Given the description of an element on the screen output the (x, y) to click on. 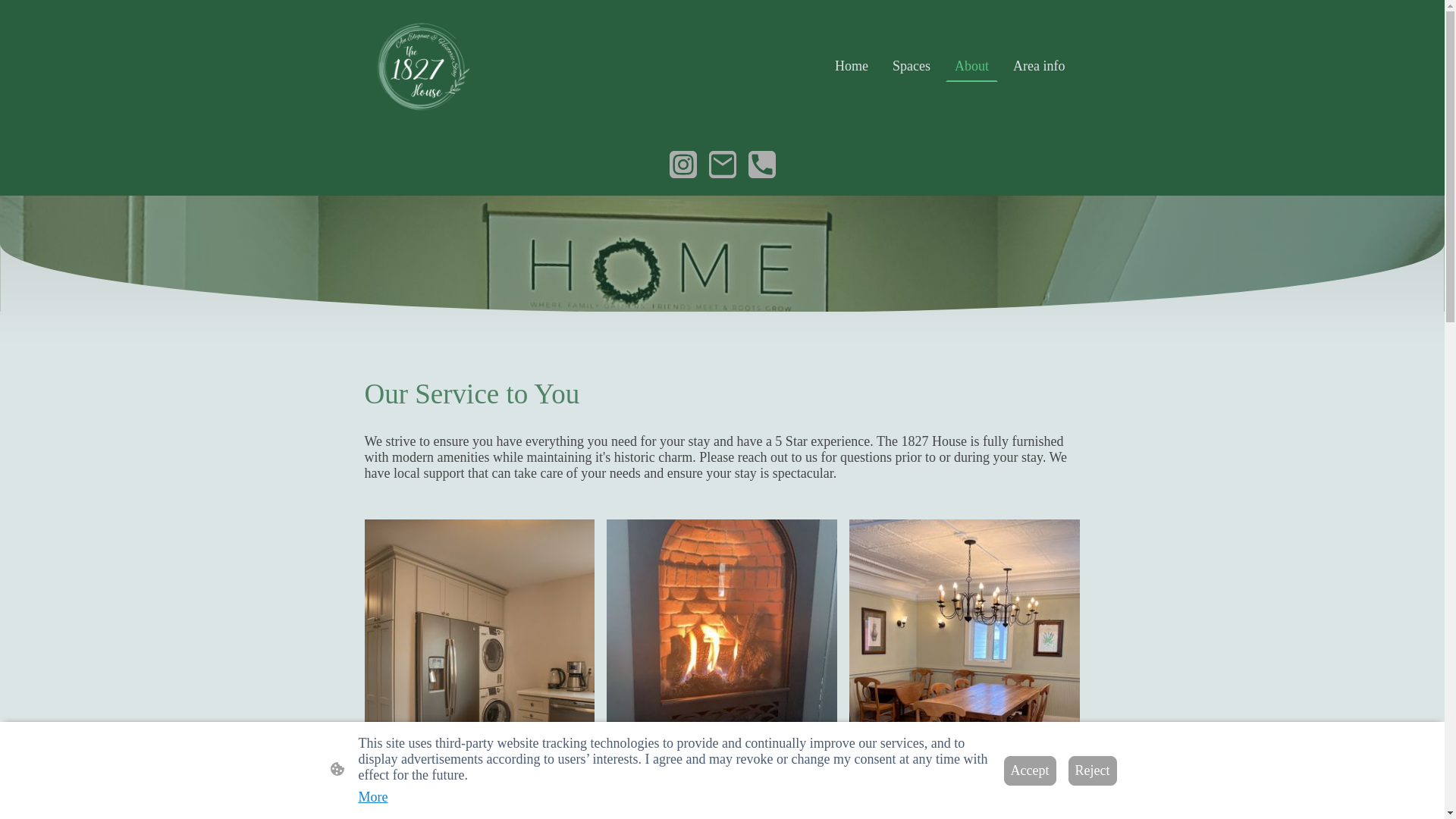
Spaces (911, 65)
About (971, 65)
More (372, 797)
Home (851, 65)
Accept (1030, 769)
Reject (1092, 769)
Area info (1038, 65)
